Given the description of an element on the screen output the (x, y) to click on. 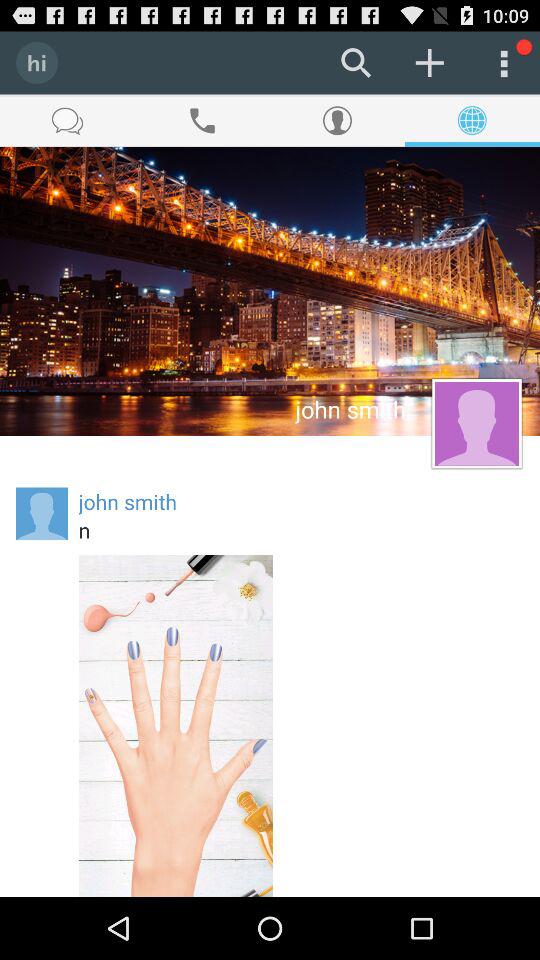
select icon below n (175, 725)
